Given the description of an element on the screen output the (x, y) to click on. 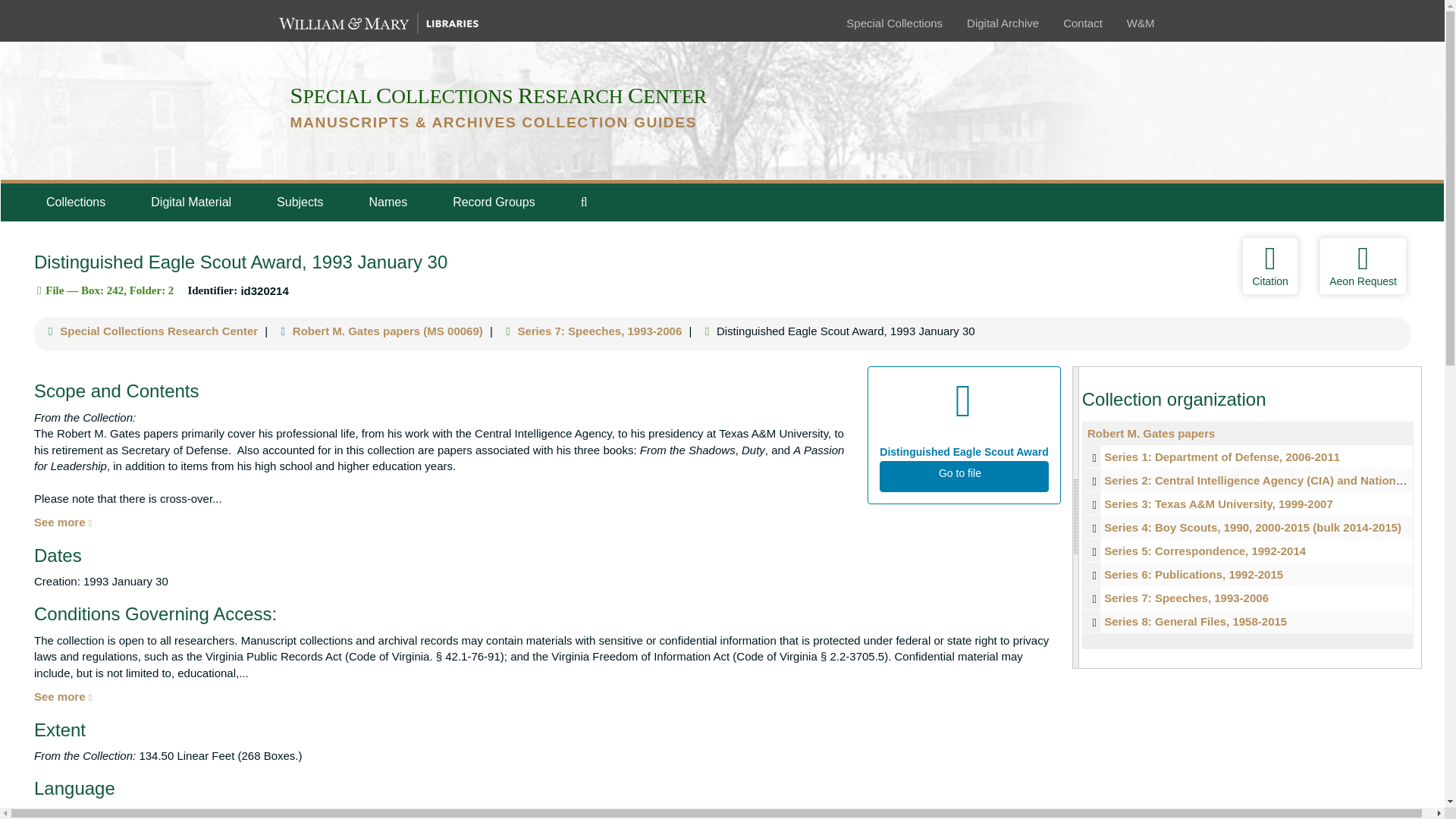
Series 7: Speeches, 1993-2006 (1247, 597)
Series 1: Department of Defense, 2006-2011 (1221, 456)
Citation (1269, 265)
Digital Archive (1002, 23)
Series 6: Publications, 1992-2015 (1247, 574)
Subjects (299, 202)
Page Actions (1130, 265)
Collections (75, 202)
Digital Material (190, 202)
Names (387, 202)
Link to digital object (963, 434)
Series 5: Correspondence, 1992-2014 (1247, 550)
Contact (1082, 23)
Aeon Request (1362, 265)
Aeon Request (1362, 265)
